Given the description of an element on the screen output the (x, y) to click on. 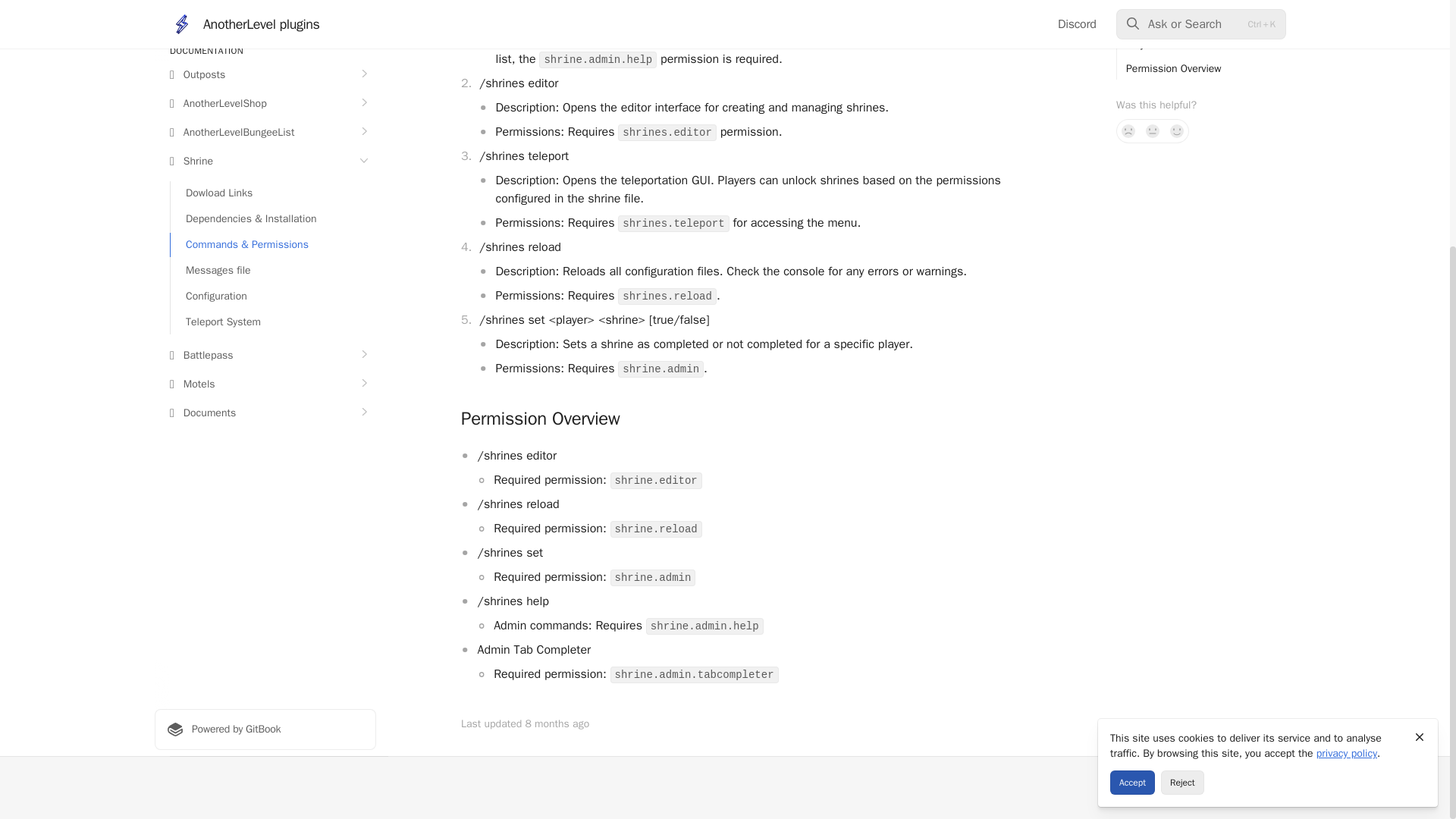
Teleport System (272, 33)
Close (1419, 384)
Configuration (272, 9)
